Given the description of an element on the screen output the (x, y) to click on. 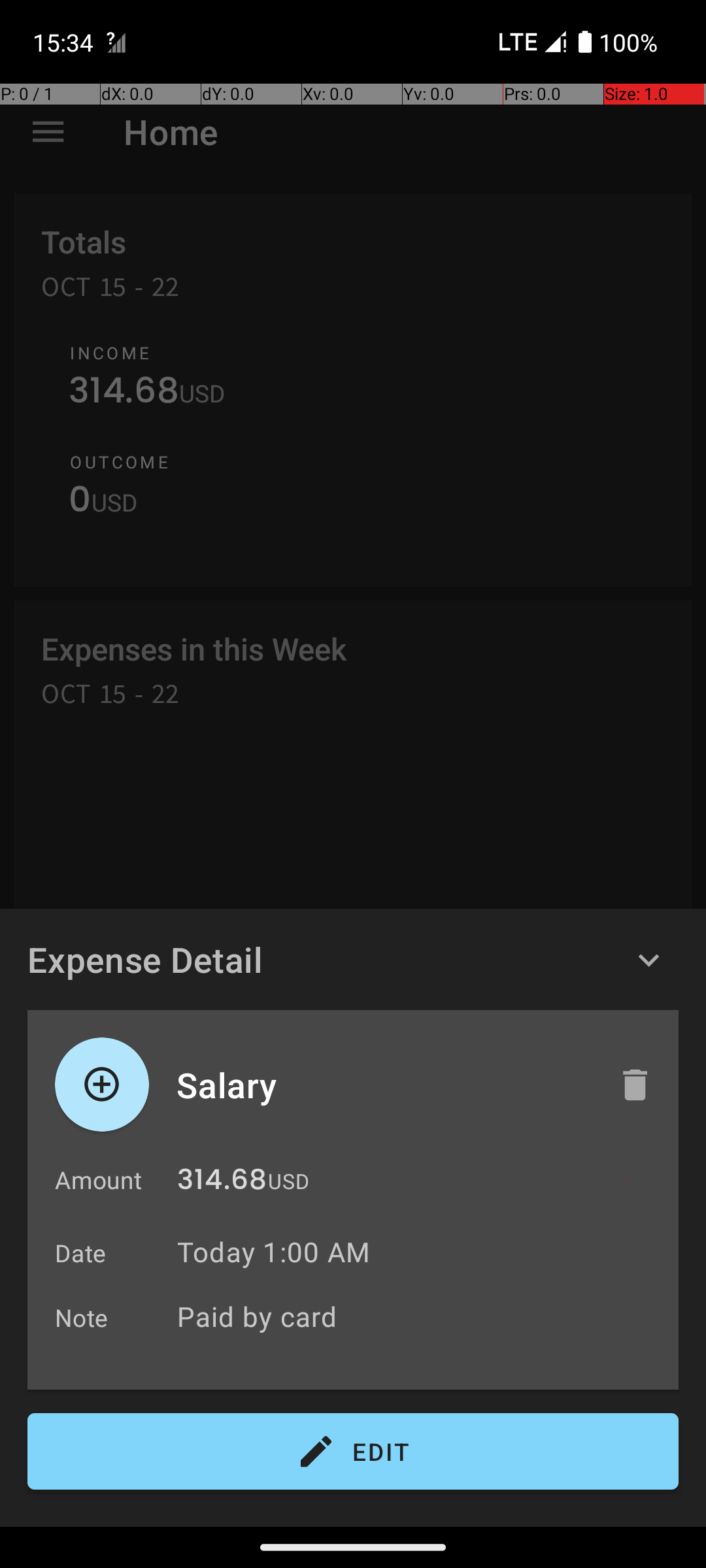
Salary Element type: android.widget.TextView (383, 1084)
314.68 Element type: android.widget.TextView (221, 1182)
Today 1:00 AM Element type: android.widget.TextView (273, 1251)
